Given the description of an element on the screen output the (x, y) to click on. 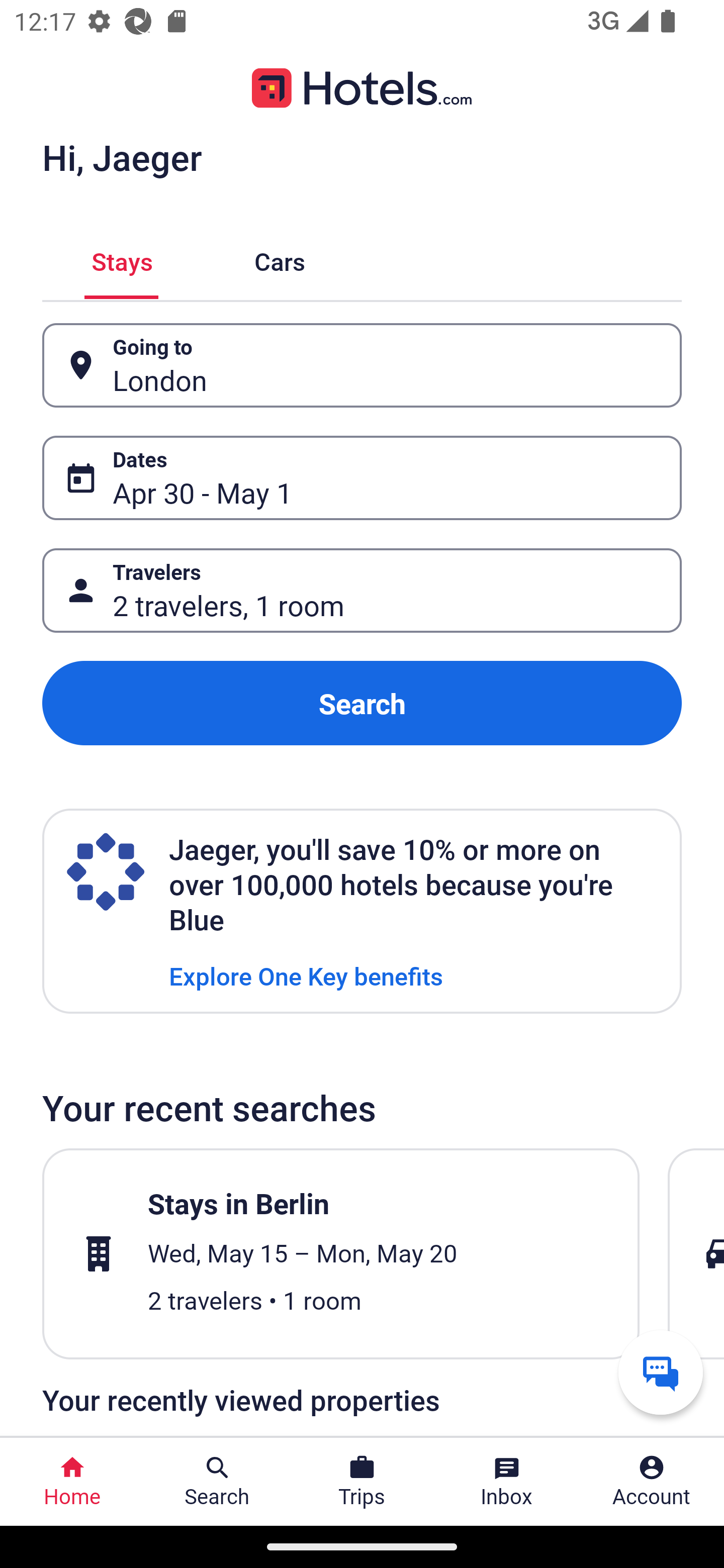
Hi, Jaeger (121, 156)
Cars (279, 259)
Going to Button London (361, 365)
Dates Button Apr 30 - May 1 (361, 477)
Travelers Button 2 travelers, 1 room (361, 590)
Search (361, 702)
Get help from a virtual agent (660, 1371)
Search Search Button (216, 1481)
Trips Trips Button (361, 1481)
Inbox Inbox Button (506, 1481)
Account Profile. Button (651, 1481)
